Given the description of an element on the screen output the (x, y) to click on. 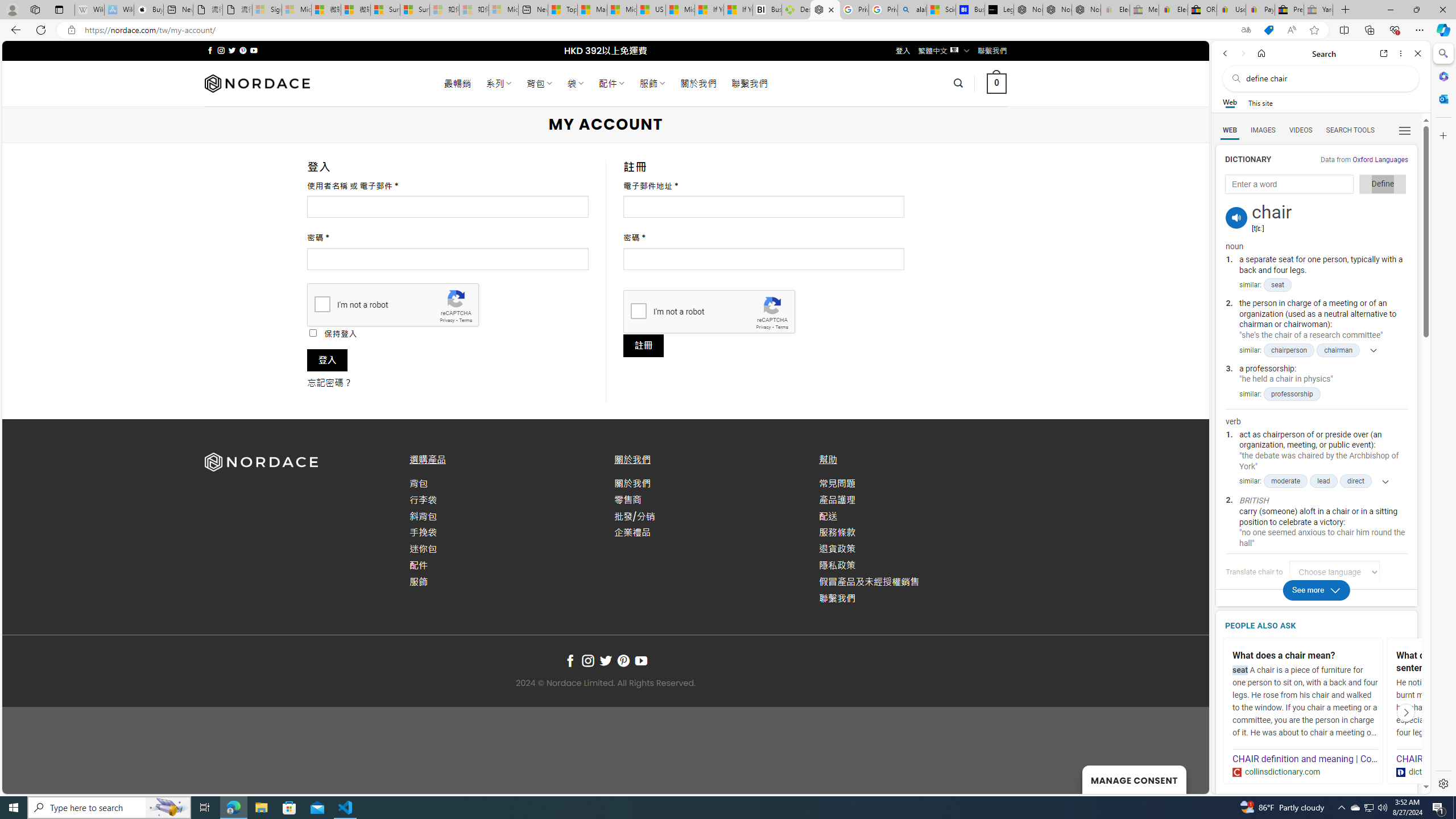
pronounce (1236, 217)
Microsoft account | Account Checkup - Sleeping (502, 9)
moderate (1285, 481)
User Privacy Notice | eBay (1230, 9)
Yard, Garden & Outdoor Living - Sleeping (1318, 9)
SEARCH TOOLS (1350, 130)
Follow on YouTube (640, 660)
